Given the description of an element on the screen output the (x, y) to click on. 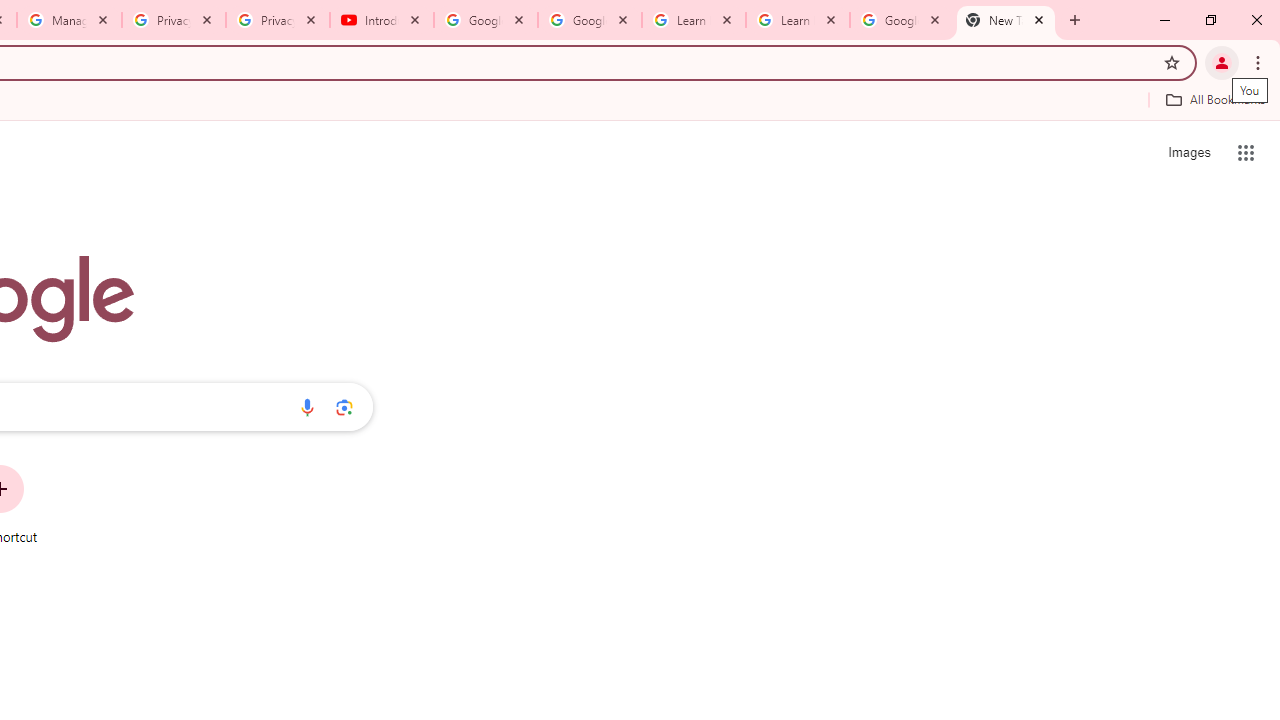
Google Account Help (485, 20)
